Given the description of an element on the screen output the (x, y) to click on. 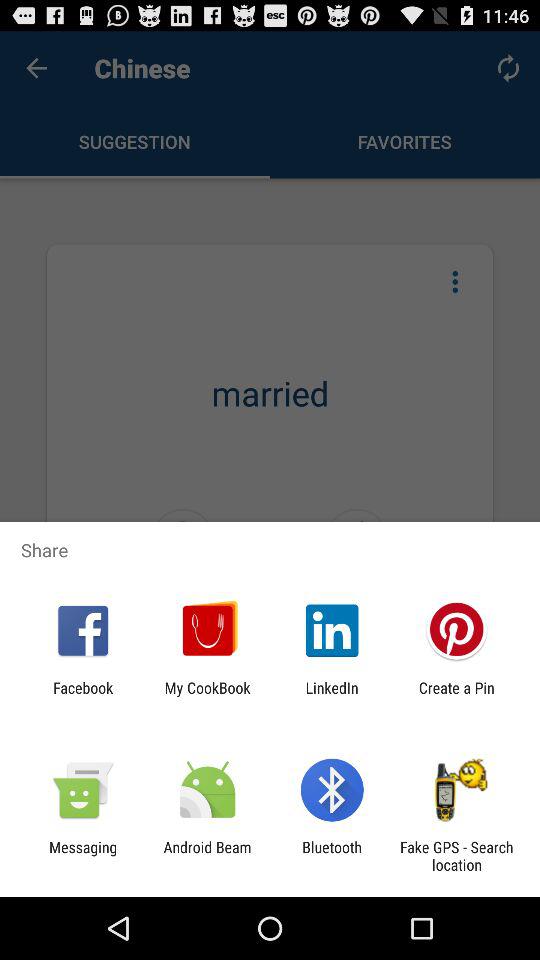
tap item to the right of the bluetooth icon (456, 856)
